Given the description of an element on the screen output the (x, y) to click on. 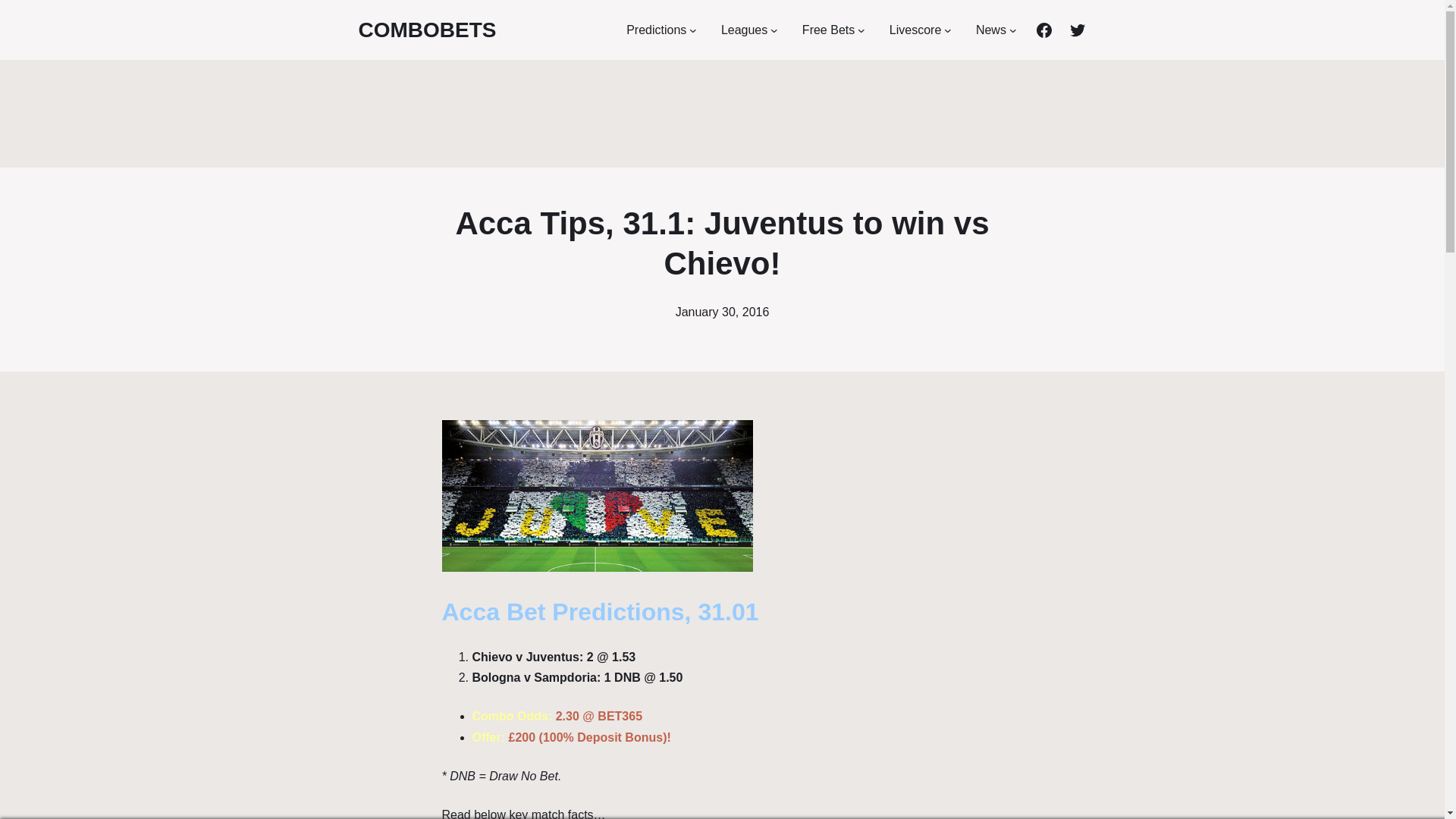
News (990, 29)
Twitter (1076, 30)
Predictions (655, 29)
Leagues (743, 29)
Free Bets (828, 29)
Facebook (1042, 30)
Livescore (914, 29)
COMBOBETS (427, 29)
